Given the description of an element on the screen output the (x, y) to click on. 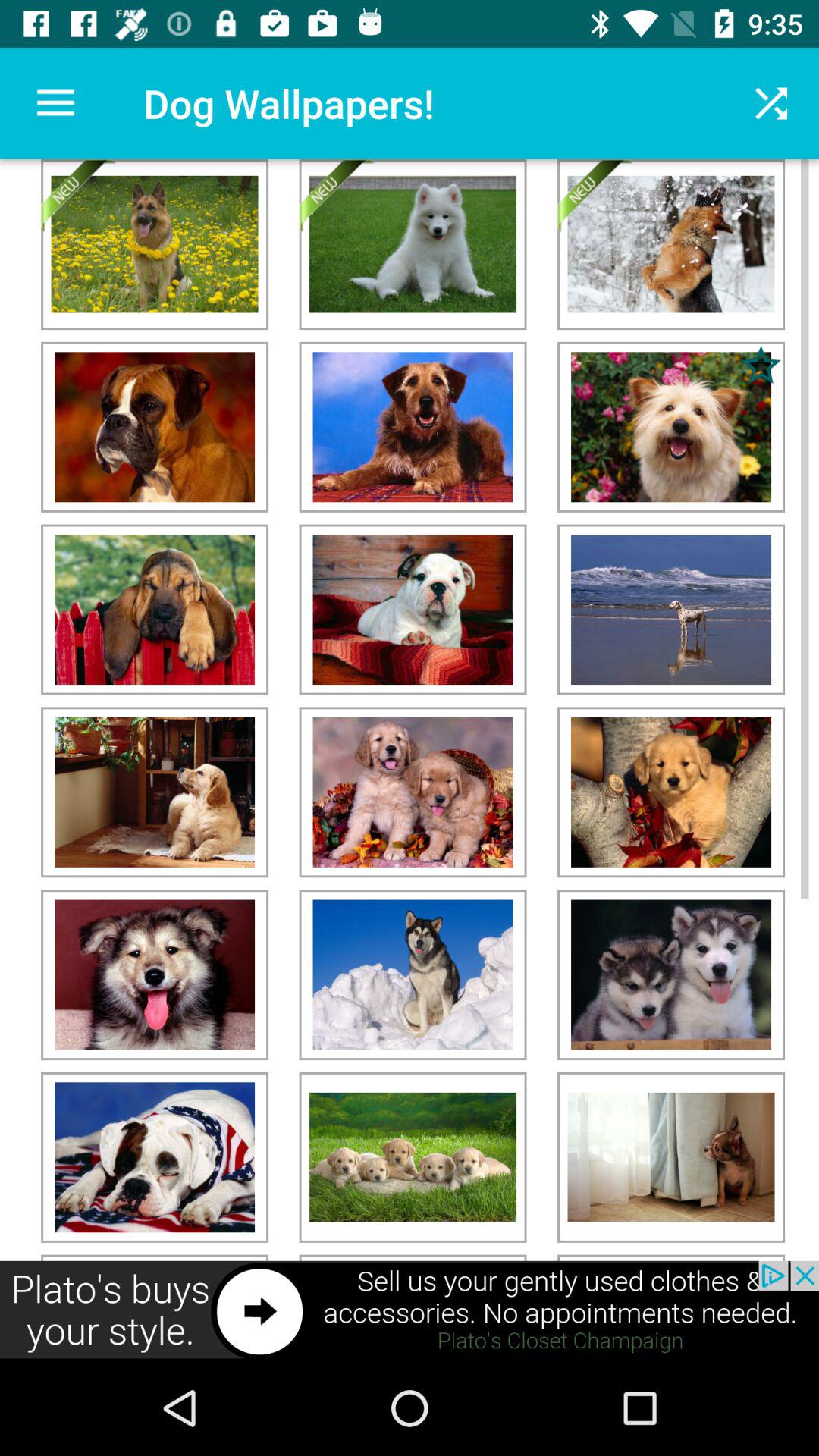
open advertisement (409, 1310)
